Given the description of an element on the screen output the (x, y) to click on. 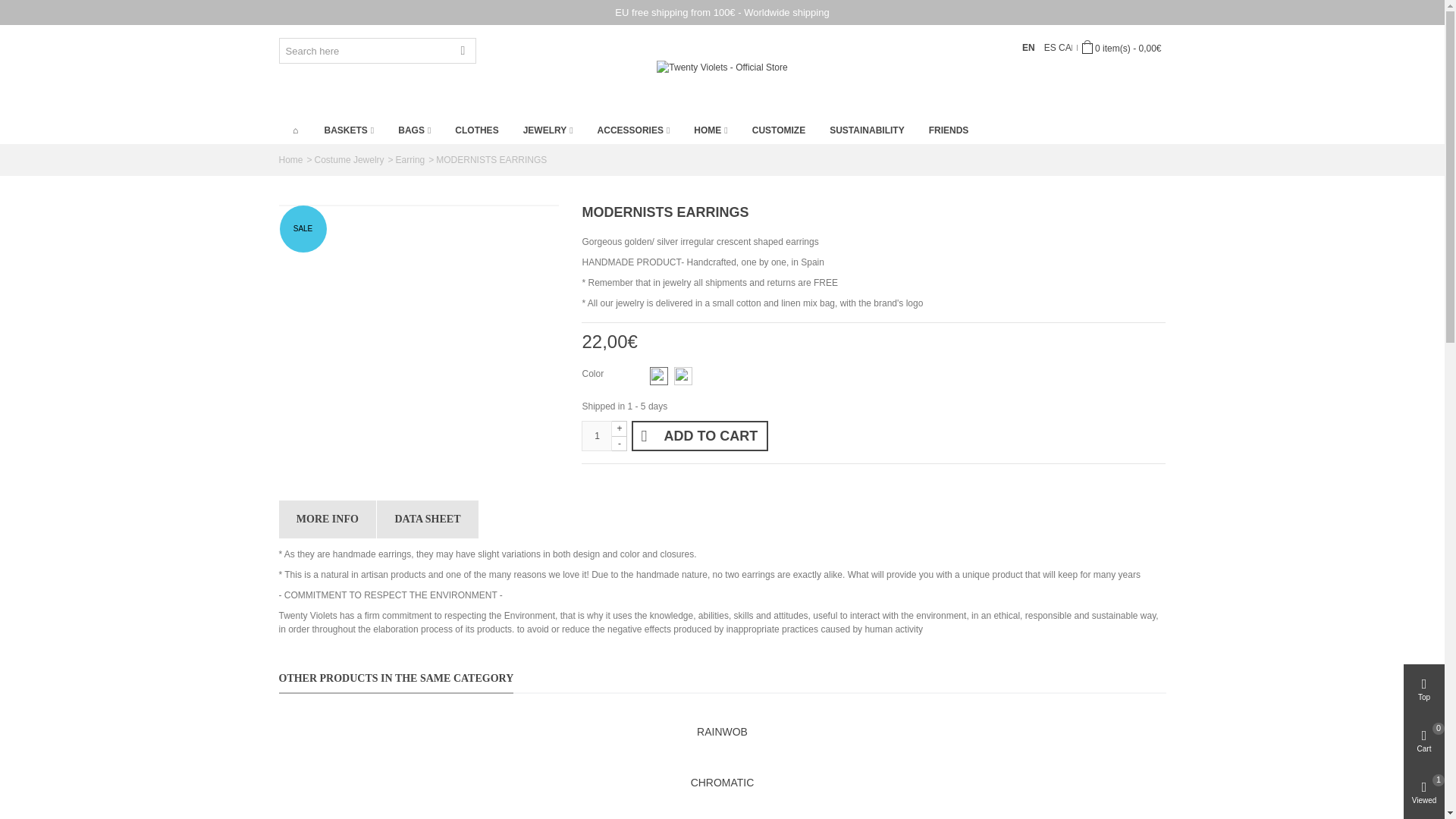
ES (1050, 47)
CLOTHES (476, 130)
1 (595, 435)
Twenty Violets - Official Store (721, 66)
CA (1064, 47)
JEWELRY (548, 130)
View my shopping cart (1121, 47)
ES (1050, 47)
CA (1064, 47)
Baskets (350, 130)
